Given the description of an element on the screen output the (x, y) to click on. 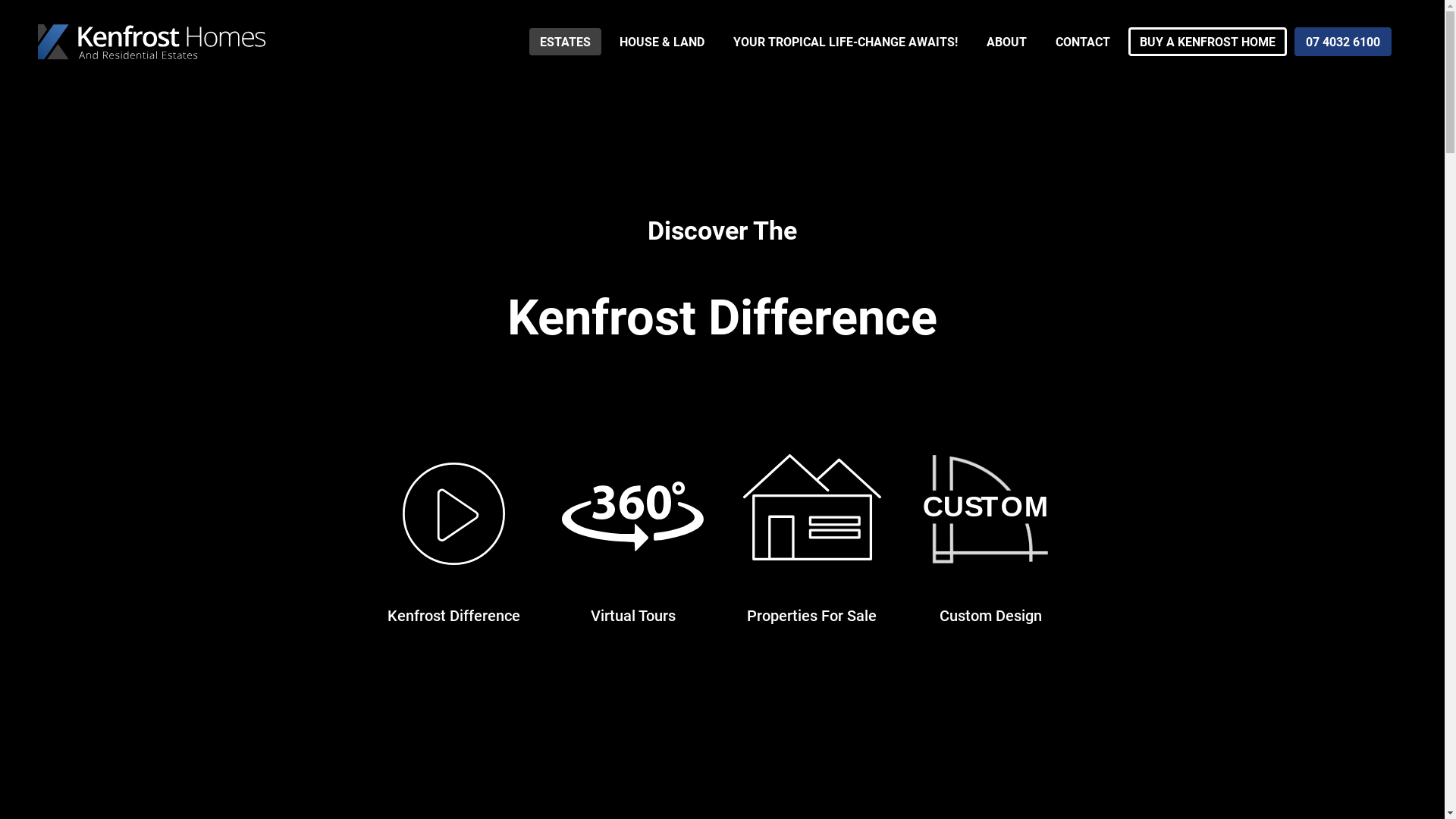
07 4032 6100 Element type: text (1342, 41)
BUY A KENFROST HOME Element type: text (1207, 41)
Properties For Sale Element type: text (811, 615)
ESTATES Element type: text (565, 41)
ABOUT Element type: text (1006, 41)
YOUR TROPICAL LIFE-CHANGE AWAITS! Element type: text (845, 41)
HOUSE & LAND Element type: text (661, 41)
Custom Design Element type: text (990, 615)
CONTACT Element type: text (1082, 41)
Virtual Tours Element type: text (631, 615)
